Given the description of an element on the screen output the (x, y) to click on. 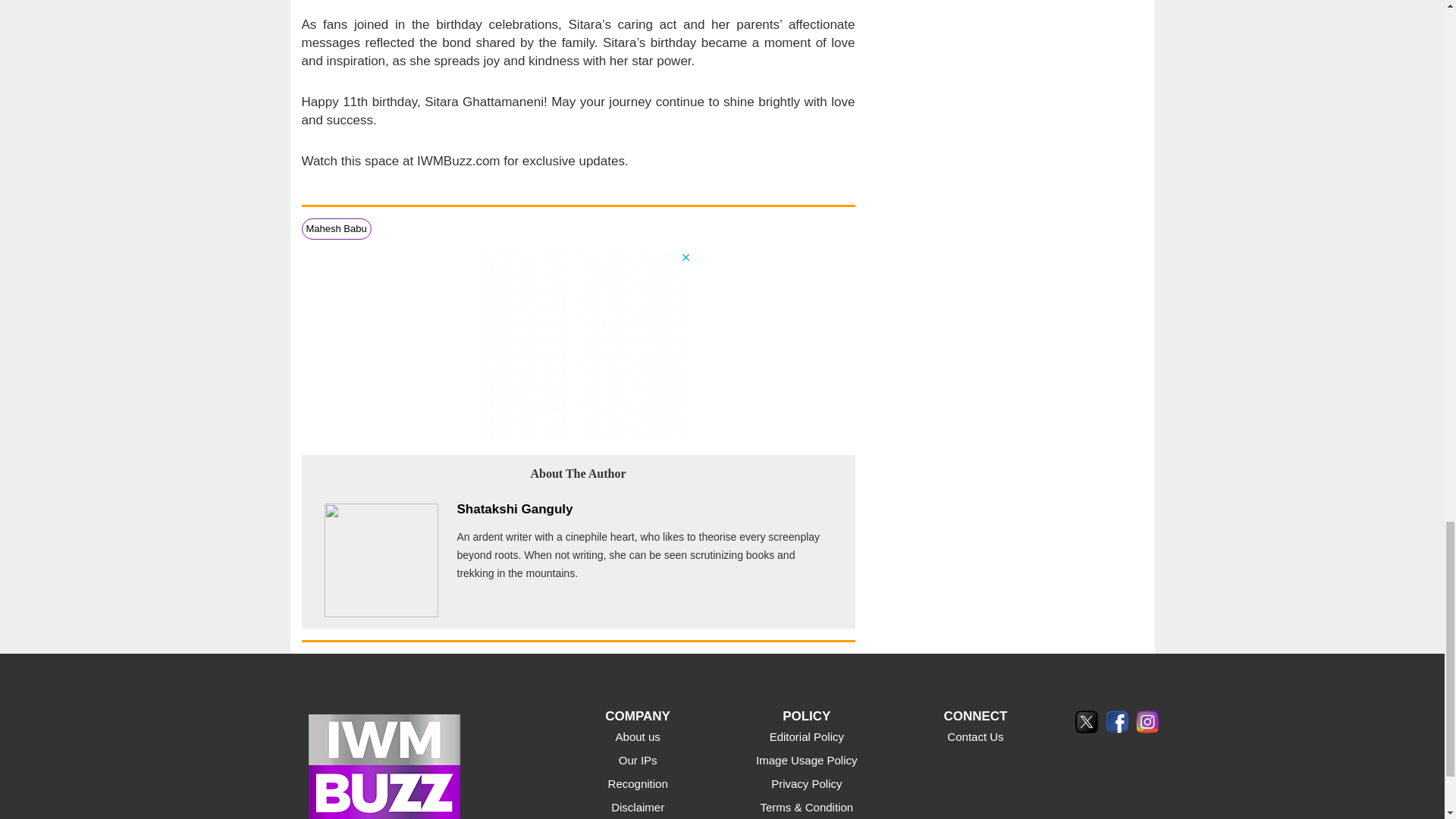
Shatakshi Ganguly (514, 509)
Mahesh Babu (335, 228)
3rd party ad content (577, 345)
